Given the description of an element on the screen output the (x, y) to click on. 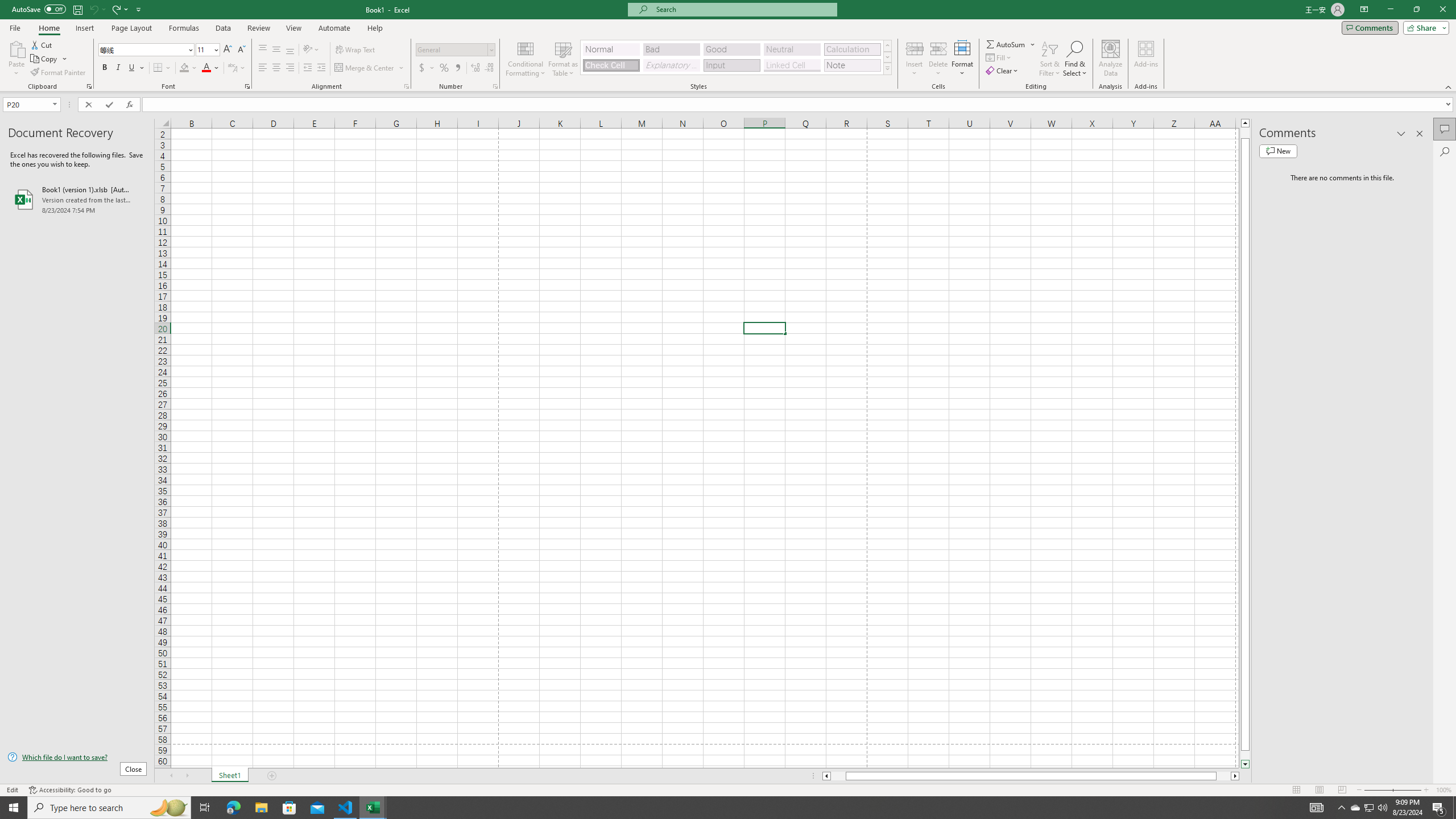
Page left (838, 775)
Italic (118, 67)
Format Cell Font (247, 85)
Delete Cells... (938, 48)
Underline (136, 67)
Find & Select (1075, 58)
